Given the description of an element on the screen output the (x, y) to click on. 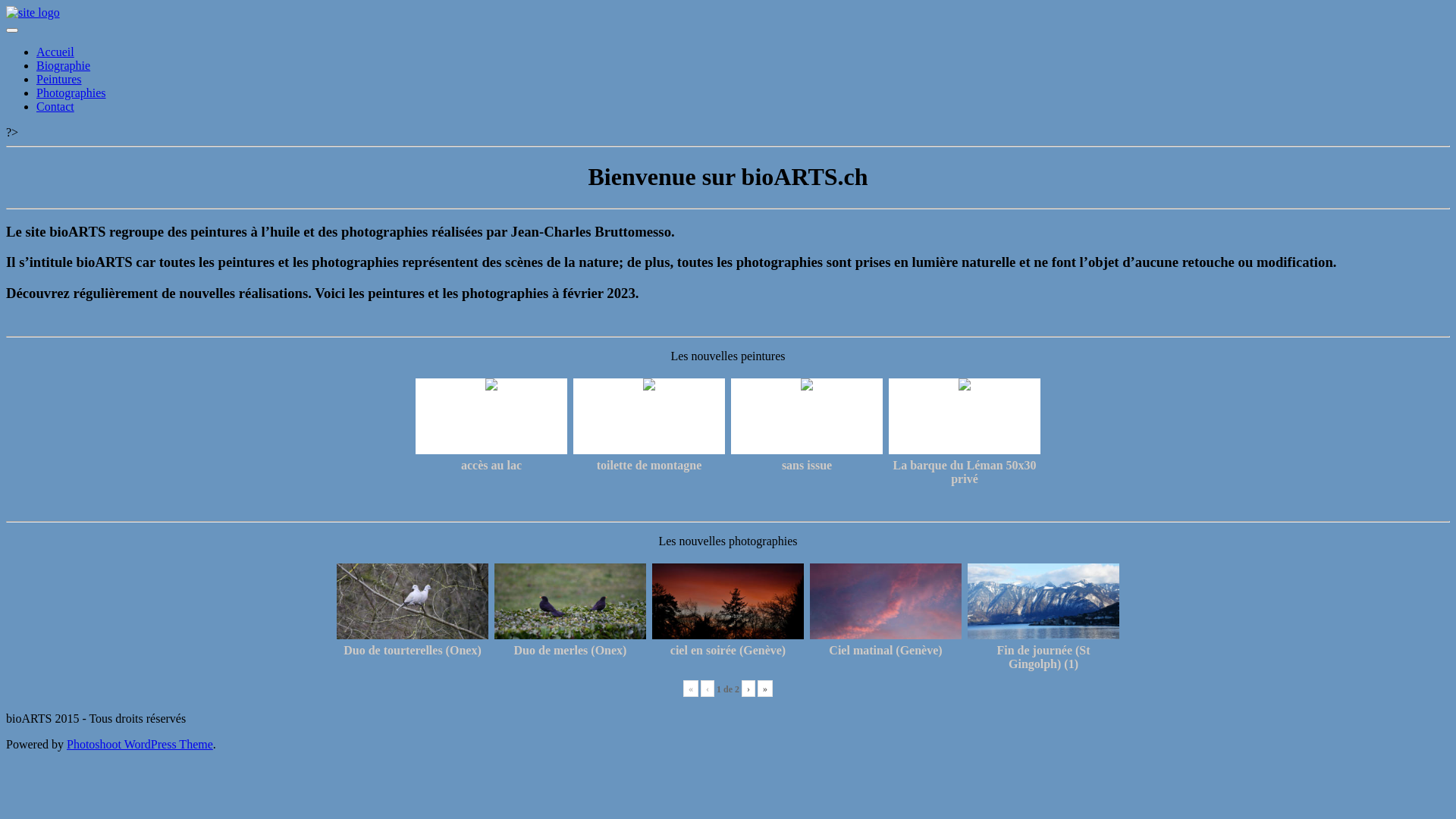
Contact Element type: text (55, 106)
Photographies Element type: text (71, 92)
Biographie Element type: text (63, 65)
Peintures Element type: text (58, 78)
Accueil Element type: text (55, 51)
Photoshoot WordPress Theme Element type: text (139, 743)
